Given the description of an element on the screen output the (x, y) to click on. 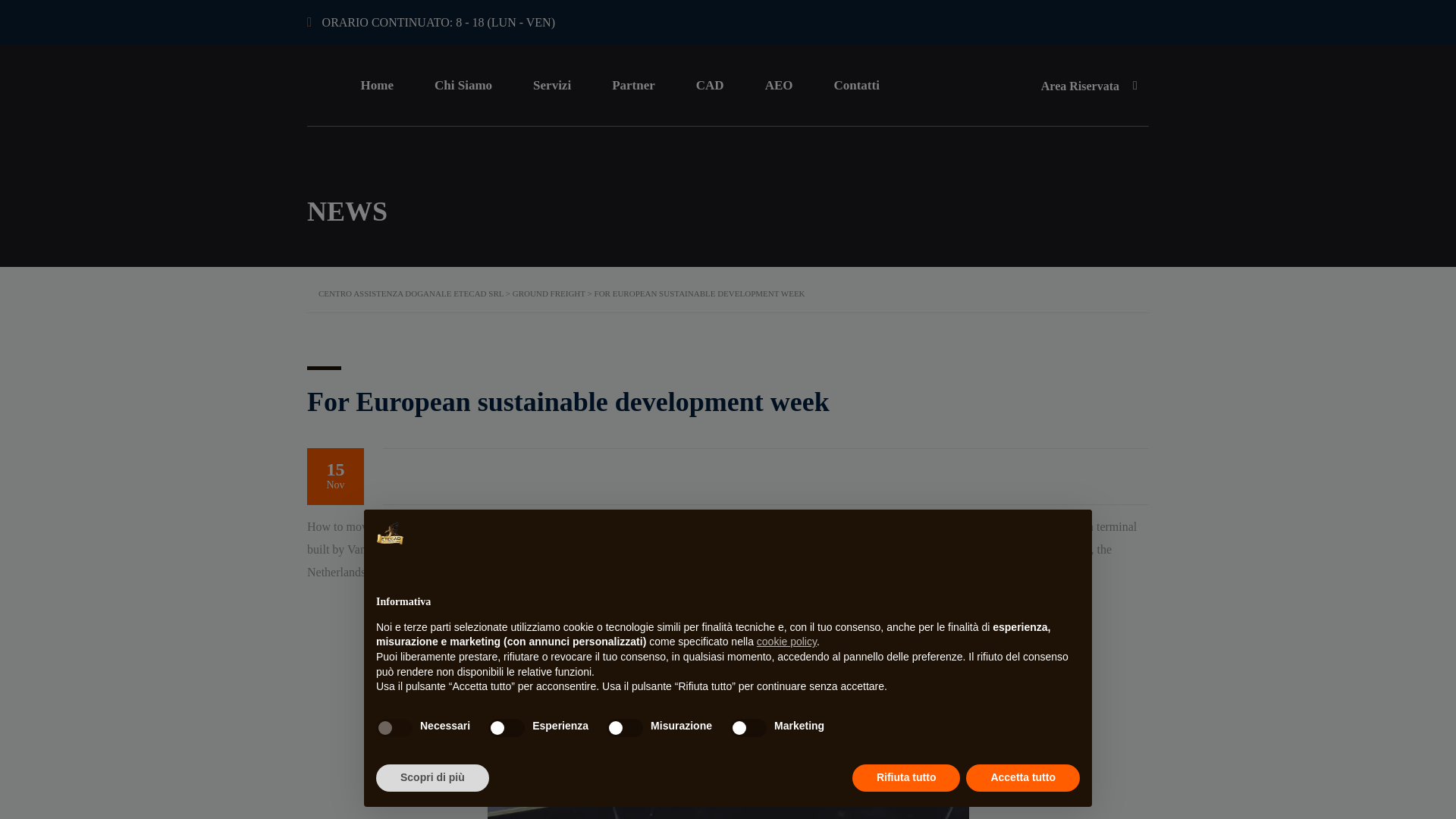
CAD (709, 85)
cookie policy (786, 641)
true (393, 728)
false (748, 728)
AEO (779, 85)
1 (246, 712)
1 (727, 712)
false (505, 728)
Area Riservata (1085, 85)
GROUND FREIGHT (548, 293)
CENTRO ASSISTENZA DOGANALE ETECAD SRL (410, 293)
Go to the Ground Freight Categoria archives. (548, 293)
false (625, 728)
Servizi (551, 85)
Vai a Centro assistenza doganale ETECAD srl. (410, 293)
